Given the description of an element on the screen output the (x, y) to click on. 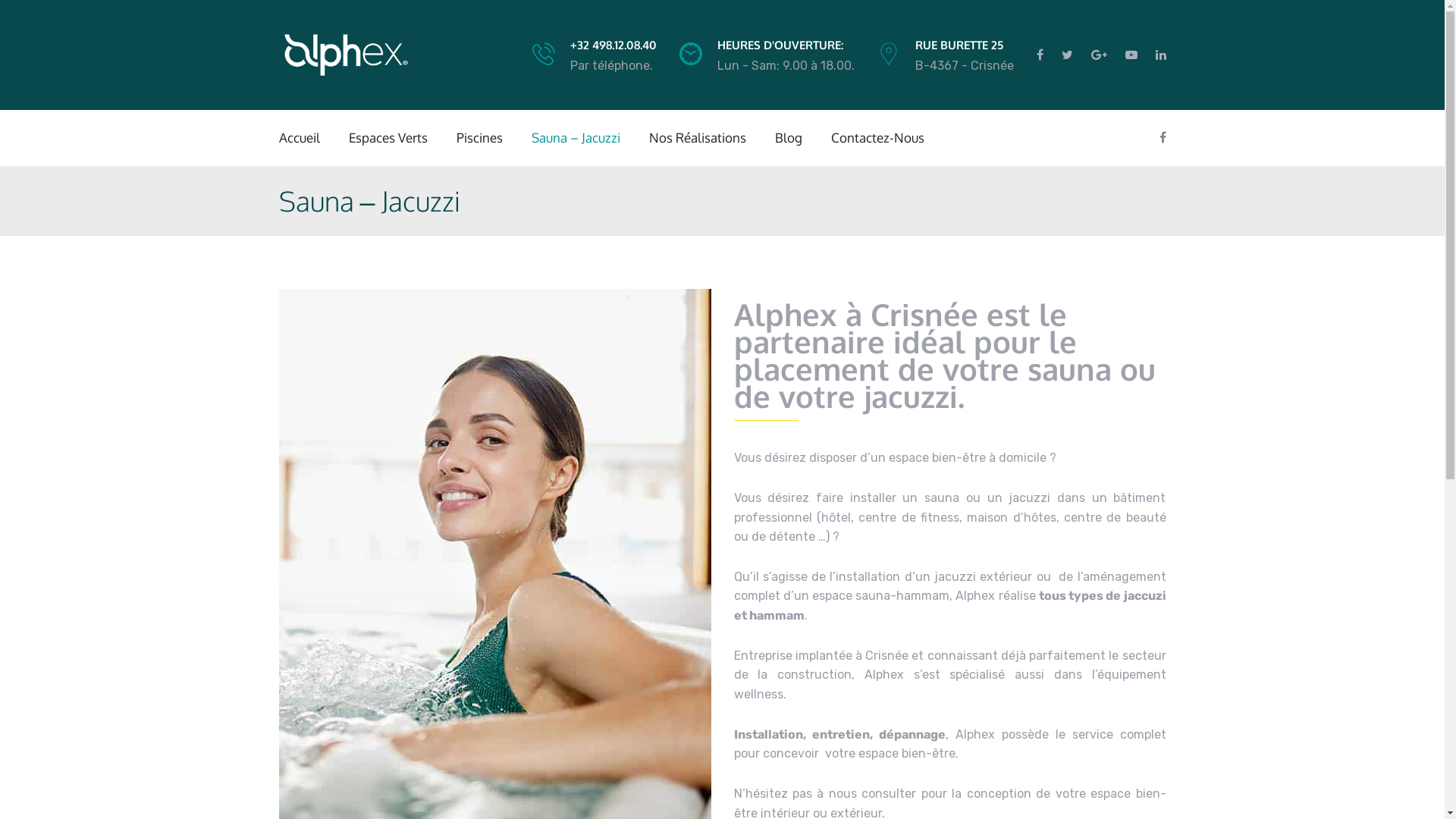
Linkedin Element type: hover (1156, 55)
Contactez-Nous Element type: text (877, 137)
Piscines Element type: text (479, 137)
Twitter Element type: hover (1067, 55)
Youtube Element type: hover (1131, 55)
Espaces Verts Element type: text (387, 137)
Google Plus Element type: hover (1098, 55)
Facebook Element type: hover (1043, 55)
Accueil Element type: text (299, 137)
Blog Element type: text (788, 137)
